Given the description of an element on the screen output the (x, y) to click on. 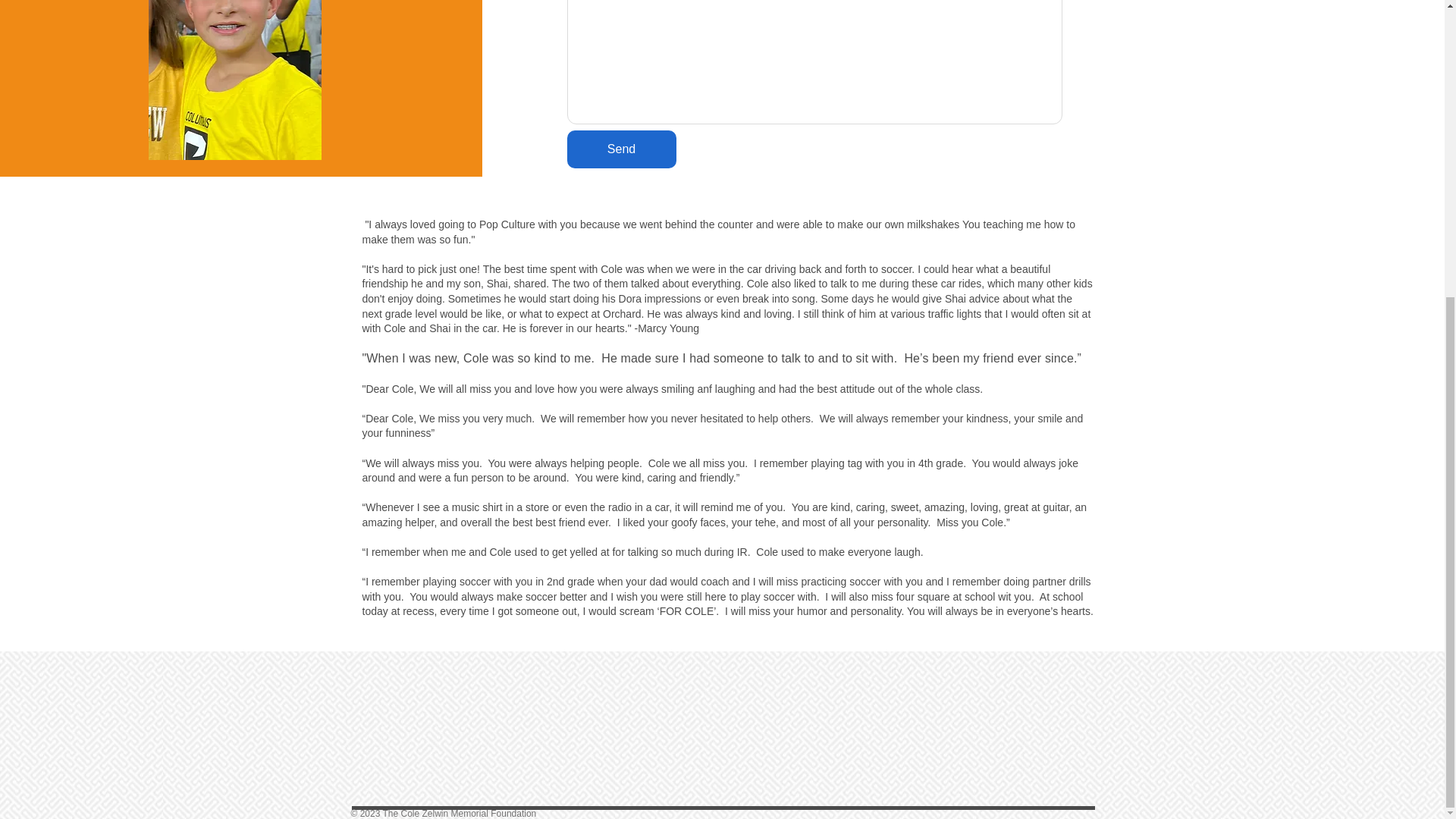
Send (622, 149)
Crew Game Cole.jpg (234, 79)
